Given the description of an element on the screen output the (x, y) to click on. 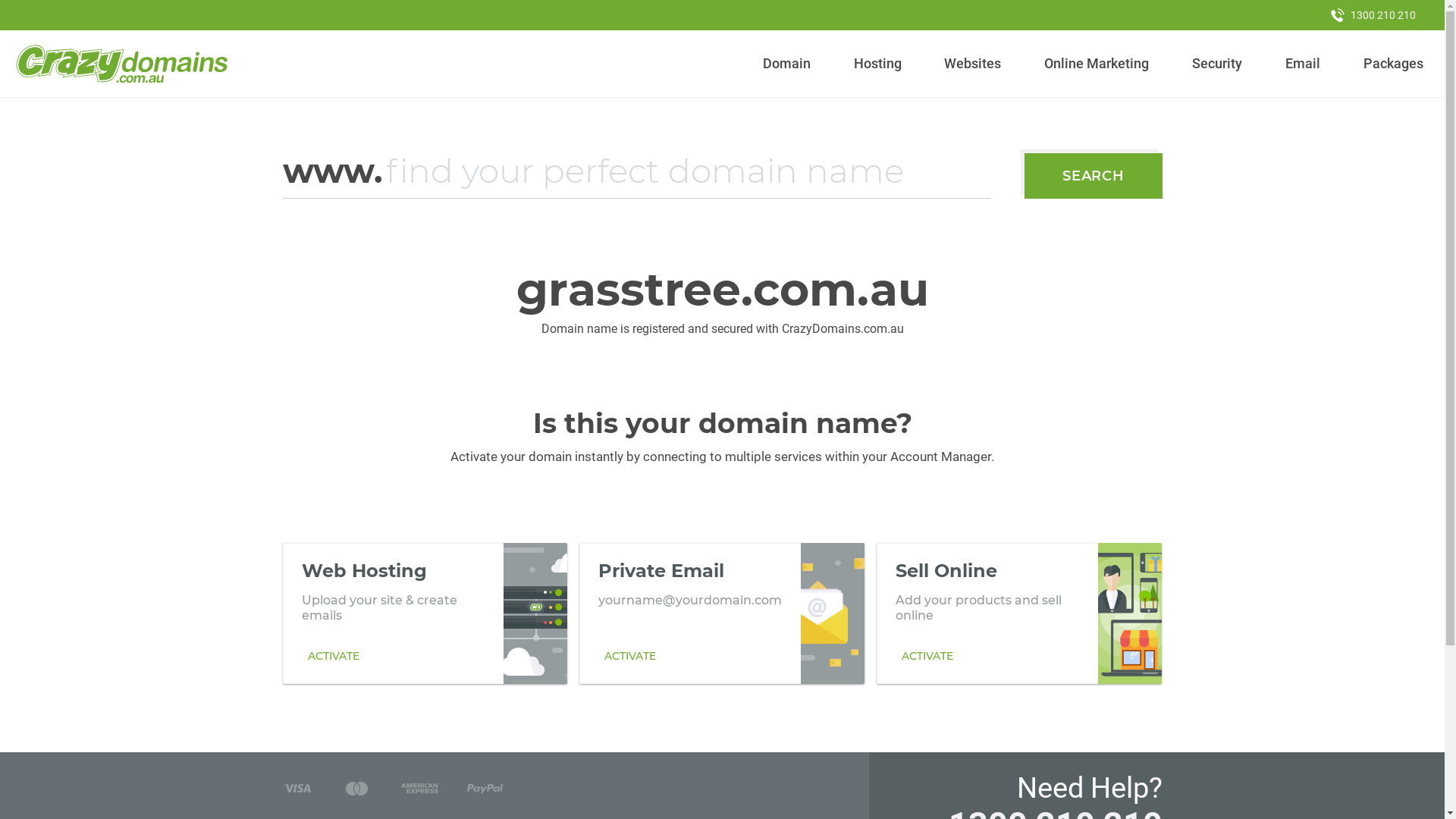
Hosting Element type: text (877, 63)
Websites Element type: text (972, 63)
SEARCH Element type: text (1092, 175)
1300 210 210 Element type: text (1373, 15)
Web Hosting
Upload your site & create emails
ACTIVATE Element type: text (424, 613)
Security Element type: text (1217, 63)
Email Element type: text (1302, 63)
Private Email
yourname@yourdomain.com
ACTIVATE Element type: text (721, 613)
Packages Element type: text (1392, 63)
Sell Online
Add your products and sell online
ACTIVATE Element type: text (1018, 613)
Domain Element type: text (786, 63)
Online Marketing Element type: text (1096, 63)
